Given the description of an element on the screen output the (x, y) to click on. 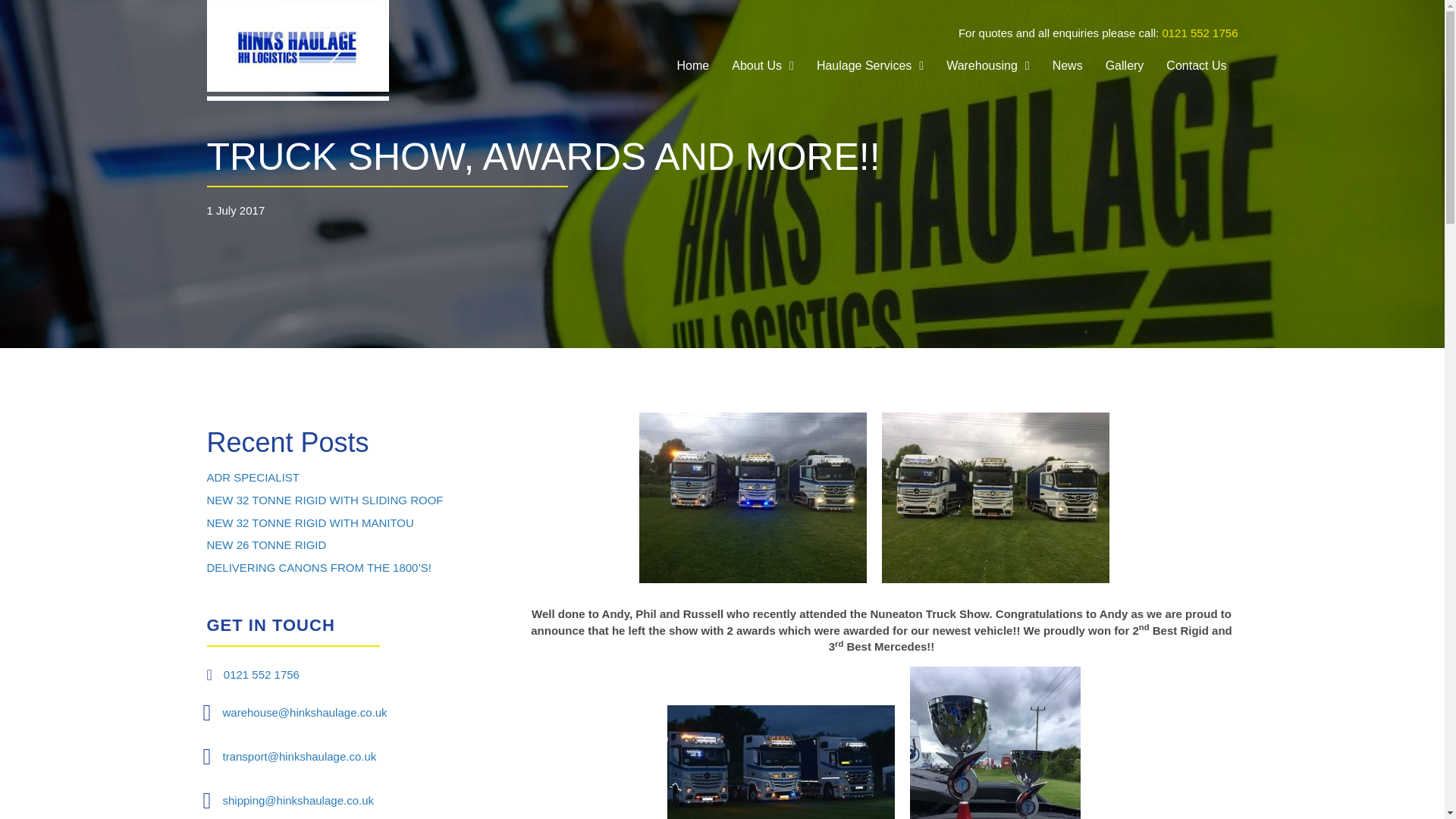
HINKS-logo (297, 50)
Haulage Services (870, 65)
Warehousing (987, 65)
Home (693, 65)
Gallery (1124, 65)
0121 552 1756 (1199, 32)
Contact Us (1195, 65)
About Us (762, 65)
News (1067, 65)
